Given the description of an element on the screen output the (x, y) to click on. 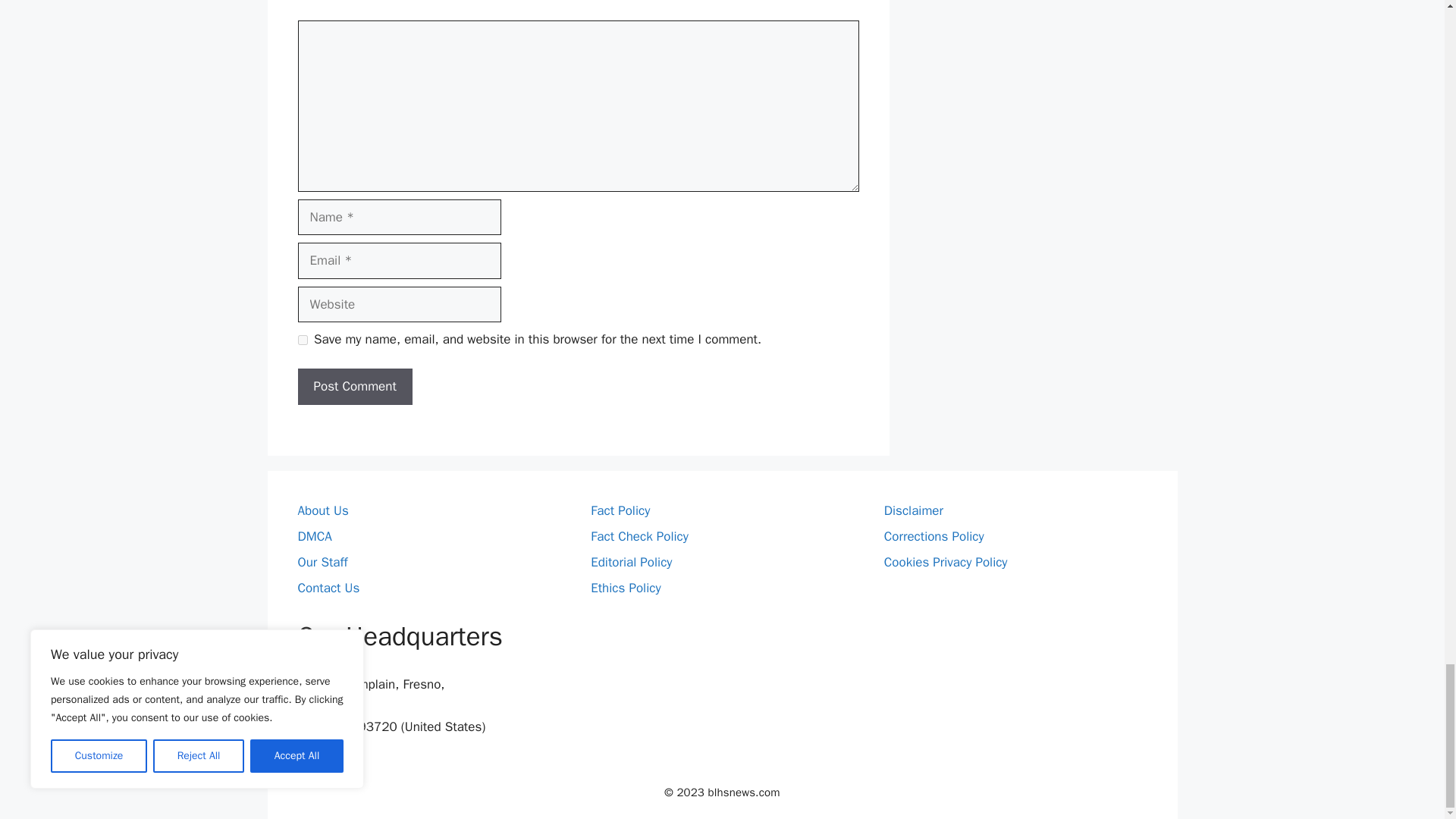
Post Comment (354, 386)
yes (302, 339)
